Given the description of an element on the screen output the (x, y) to click on. 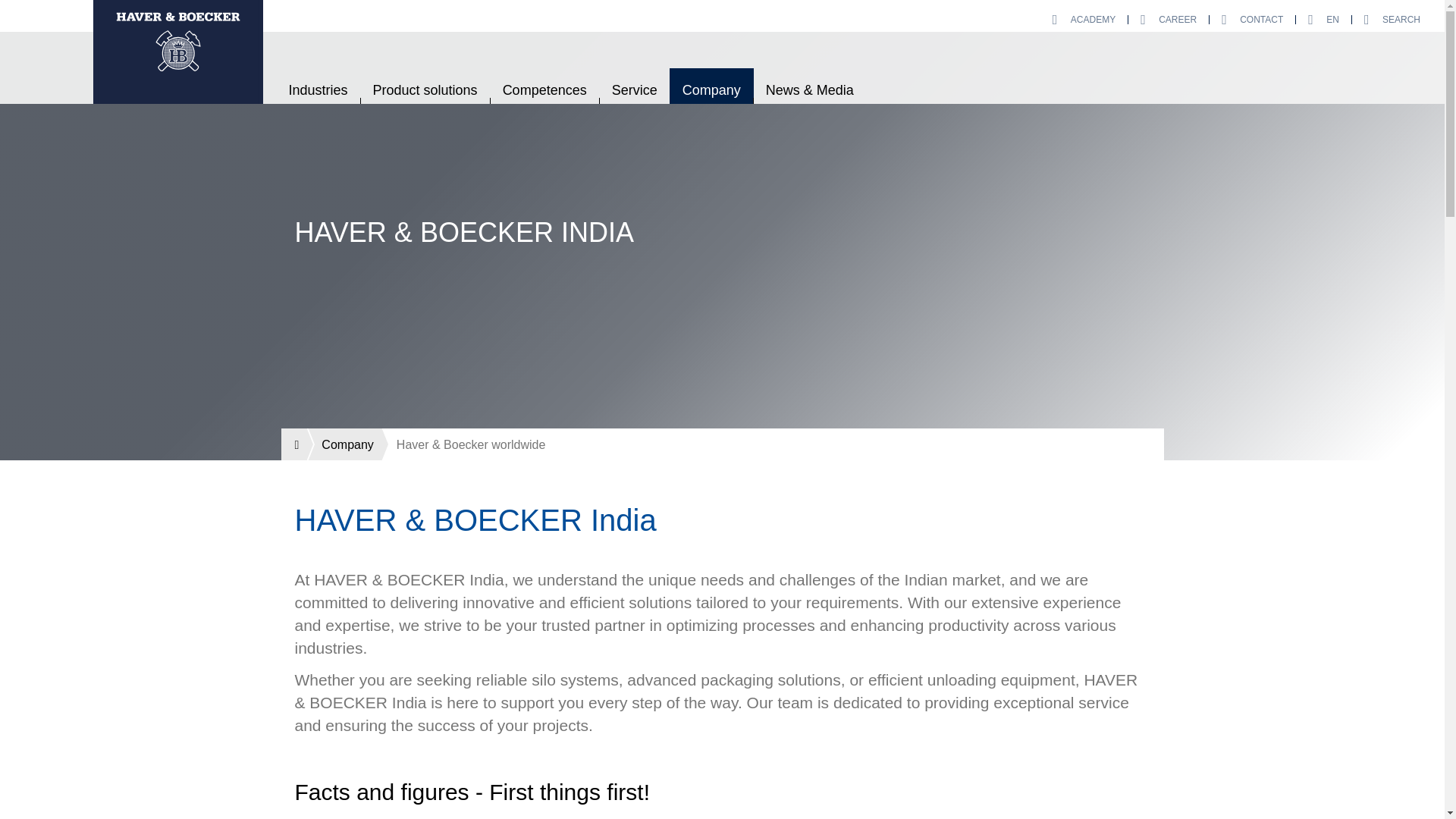
Company (342, 444)
CONTACT (1251, 19)
ACADEMY (1083, 19)
CAREER (1167, 19)
EN (1323, 19)
SEARCH (1391, 19)
Contact (1251, 19)
Career (1167, 19)
Go to homepage (177, 52)
Academy (1083, 19)
